Given the description of an element on the screen output the (x, y) to click on. 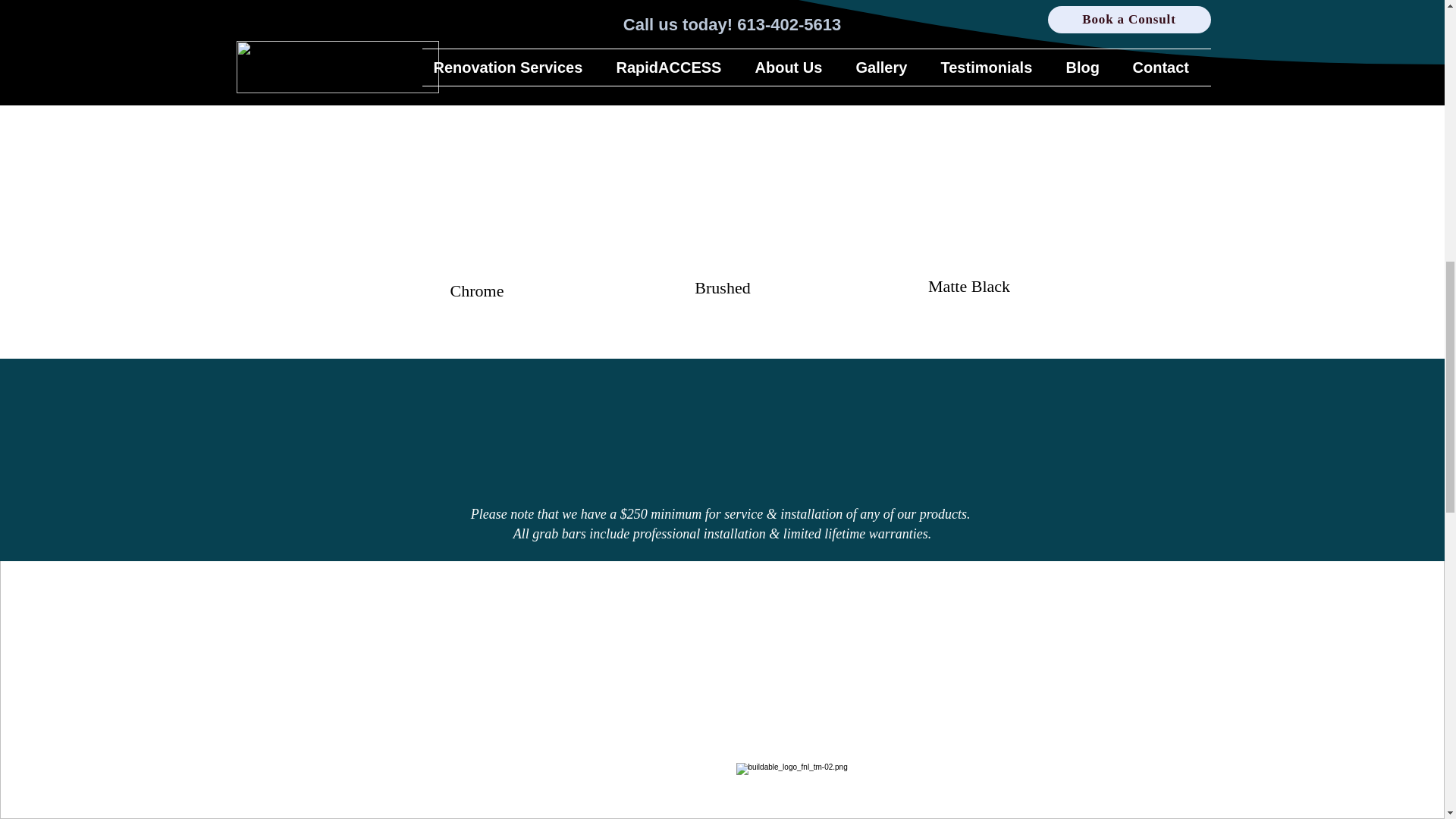
guy4.jpg (721, 175)
guy3.jpg (968, 180)
guy2.jpg (475, 180)
